Given the description of an element on the screen output the (x, y) to click on. 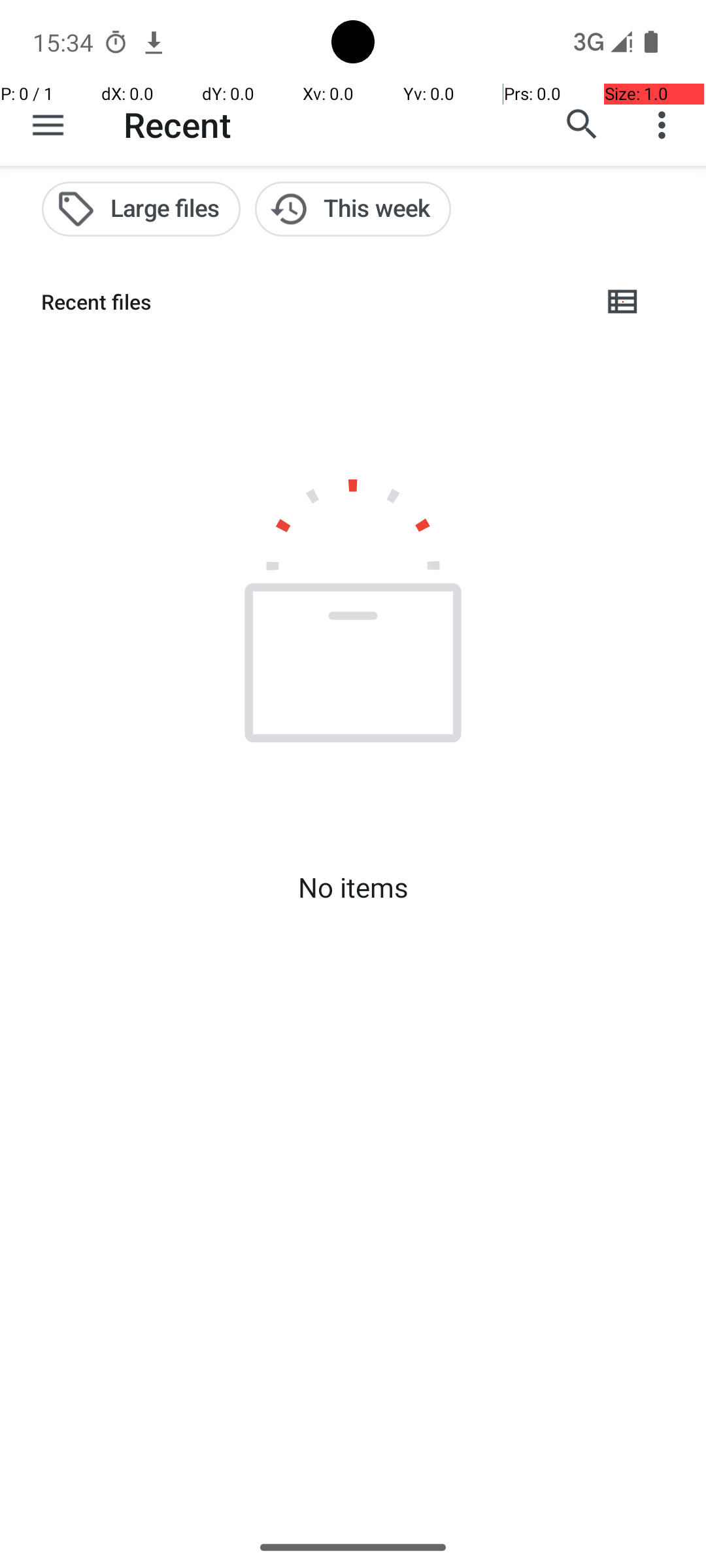
Chrome notification: www.espn.com Element type: android.widget.ImageView (153, 41)
